Given the description of an element on the screen output the (x, y) to click on. 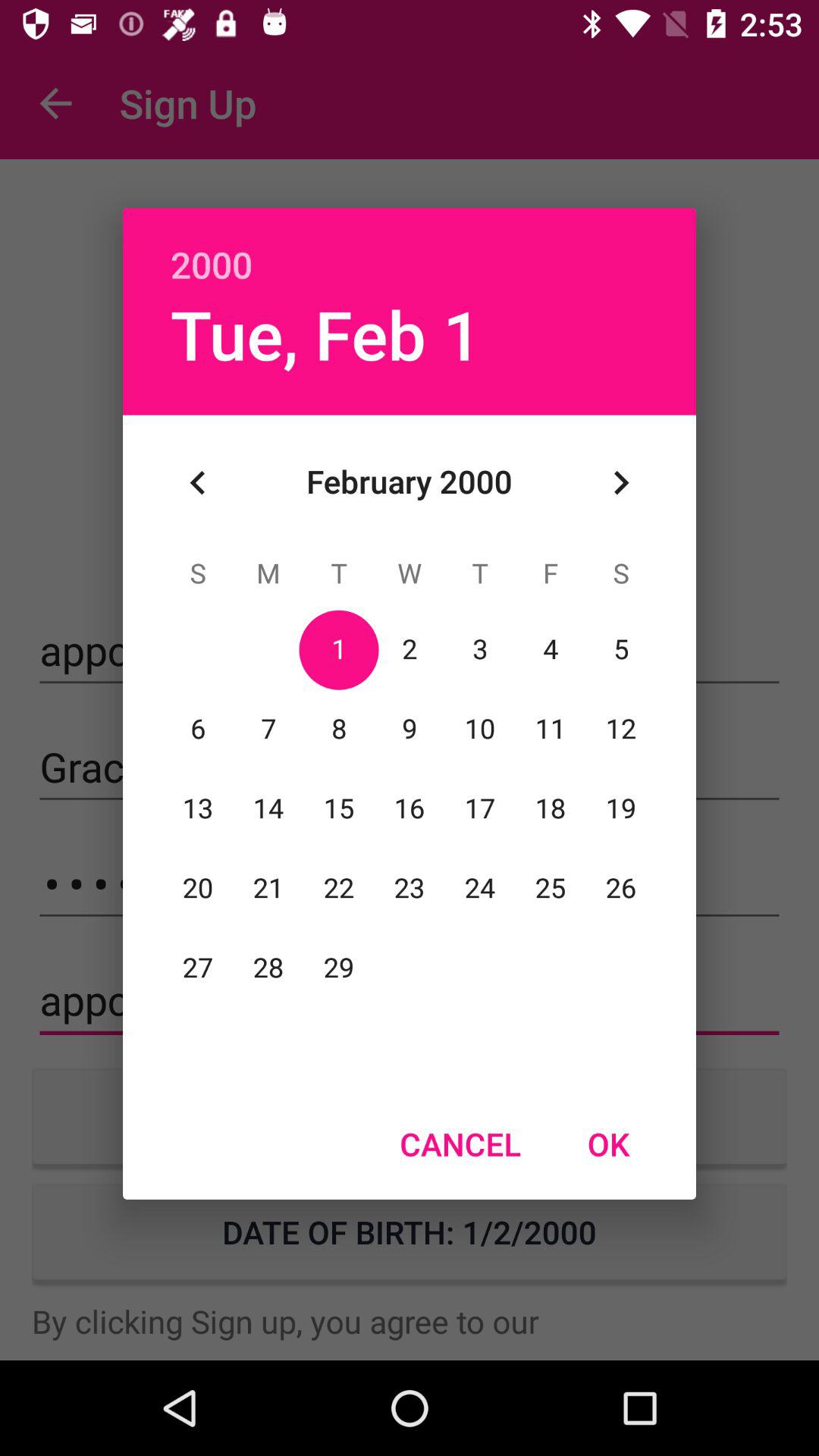
select the tue, feb 1 item (325, 333)
